Given the description of an element on the screen output the (x, y) to click on. 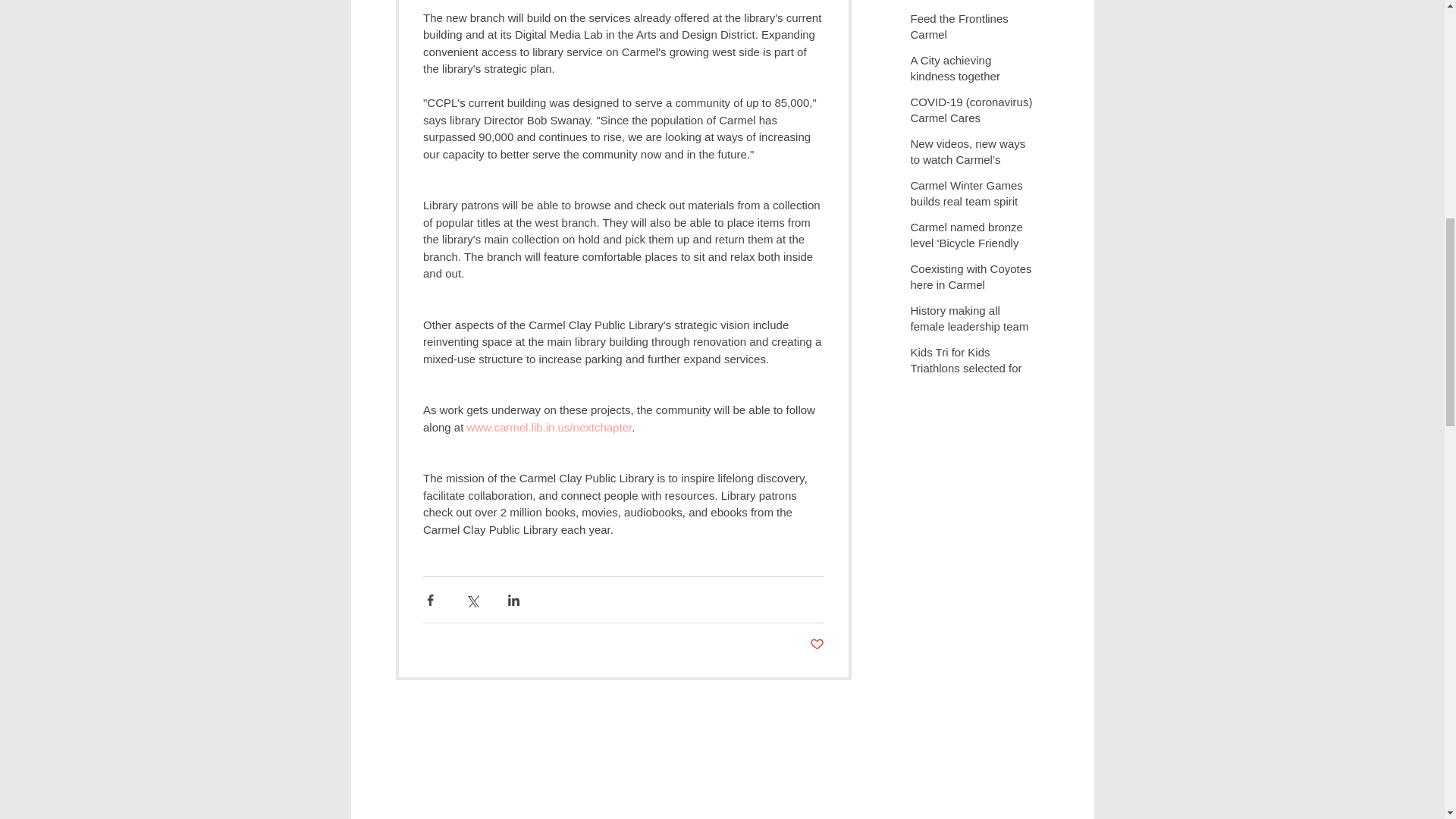
Coexisting with Coyotes here in Carmel (972, 279)
Carmel named bronze level 'Bicycle Friendly Business' (972, 245)
Feed the Frontlines Carmel (972, 29)
City of Carmel Announces Summer Paving Projects (972, 11)
A City achieving kindness together (972, 71)
Post not marked as liked (816, 644)
History making all female leadership team (972, 321)
Carmel Winter Games builds real team spirit (972, 196)
